Given the description of an element on the screen output the (x, y) to click on. 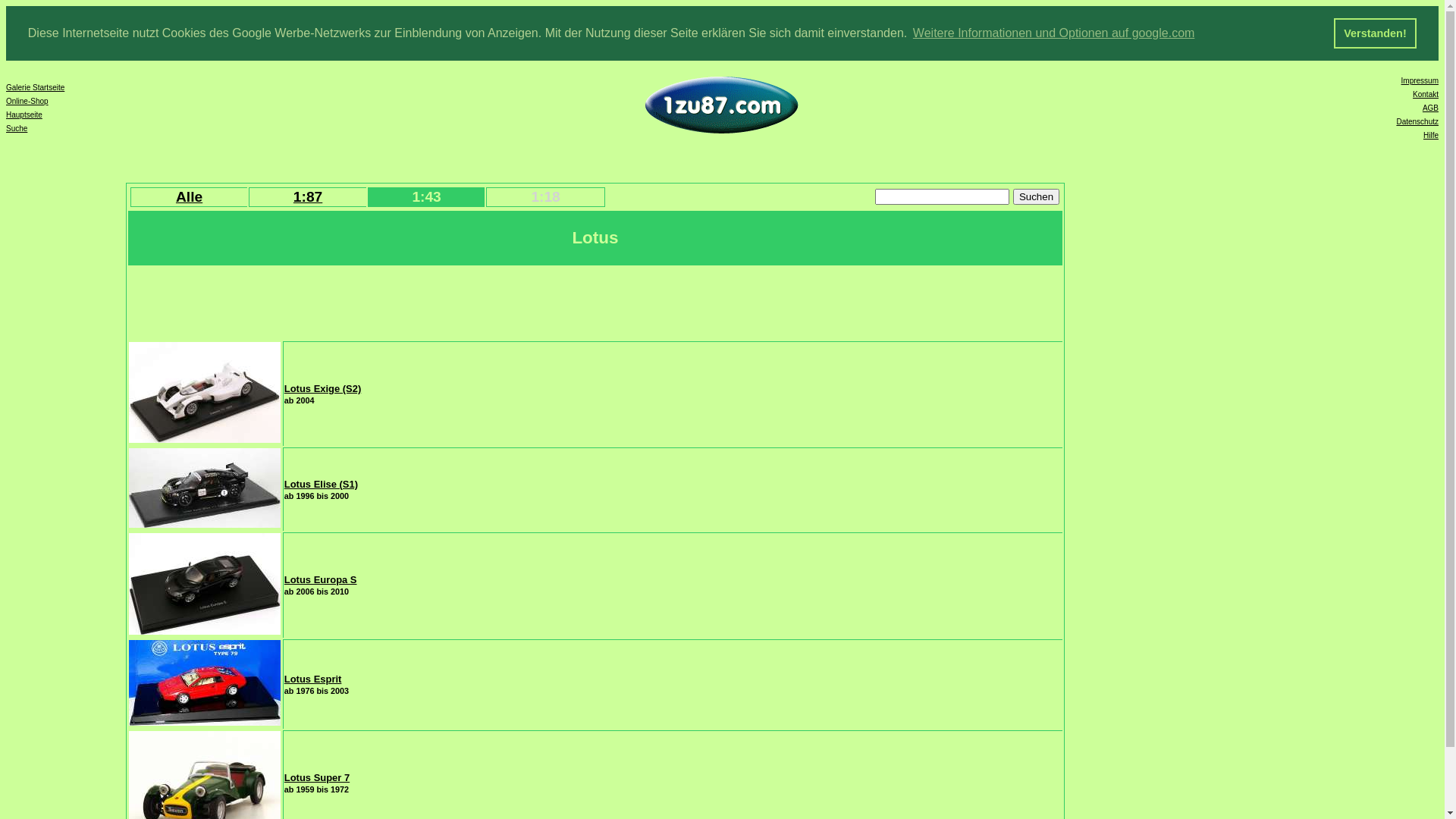
Advertisement Element type: hover (404, 301)
1:87 Element type: text (307, 195)
Weitere Informationen und Optionen auf google.com Element type: text (1053, 32)
Lotus Super 7 Element type: text (316, 777)
Lotus Esprit Element type: text (313, 678)
Kontakt Element type: text (1425, 93)
Verstanden! Element type: text (1374, 33)
Online-Shop Element type: text (27, 101)
Suche Element type: text (16, 128)
Hauptseite Element type: text (24, 114)
Alle Element type: text (188, 195)
Lotus Elise (S1) Element type: text (320, 483)
Hilfe Element type: text (1430, 134)
Lotus Europa S Element type: text (320, 579)
Datenschutz Element type: text (1417, 120)
Galerie Startseite Element type: text (35, 87)
Advertisement Element type: hover (1244, 421)
Impressum Element type: text (1419, 79)
AGB Element type: text (1430, 107)
Suchen Element type: text (1036, 196)
Lotus Exige (S2) Element type: text (322, 388)
